Given the description of an element on the screen output the (x, y) to click on. 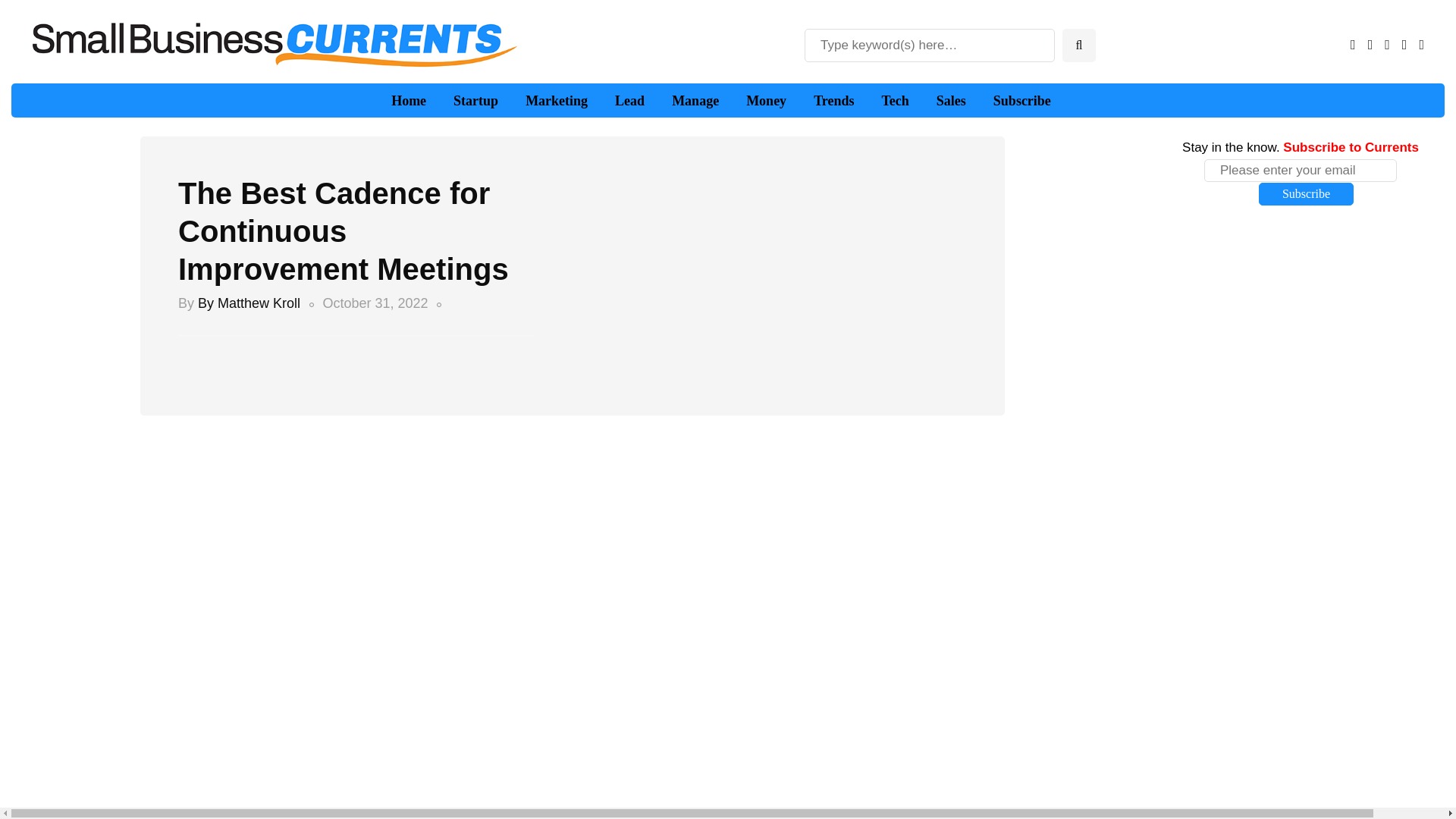
Money (765, 100)
Manage (695, 100)
Trends (833, 100)
Marketing (556, 100)
Search (40, 10)
Lead (629, 100)
Subscribe (1306, 193)
Tech (894, 100)
Posts by By Matthew Kroll (248, 303)
Subscribe (1021, 100)
